Given the description of an element on the screen output the (x, y) to click on. 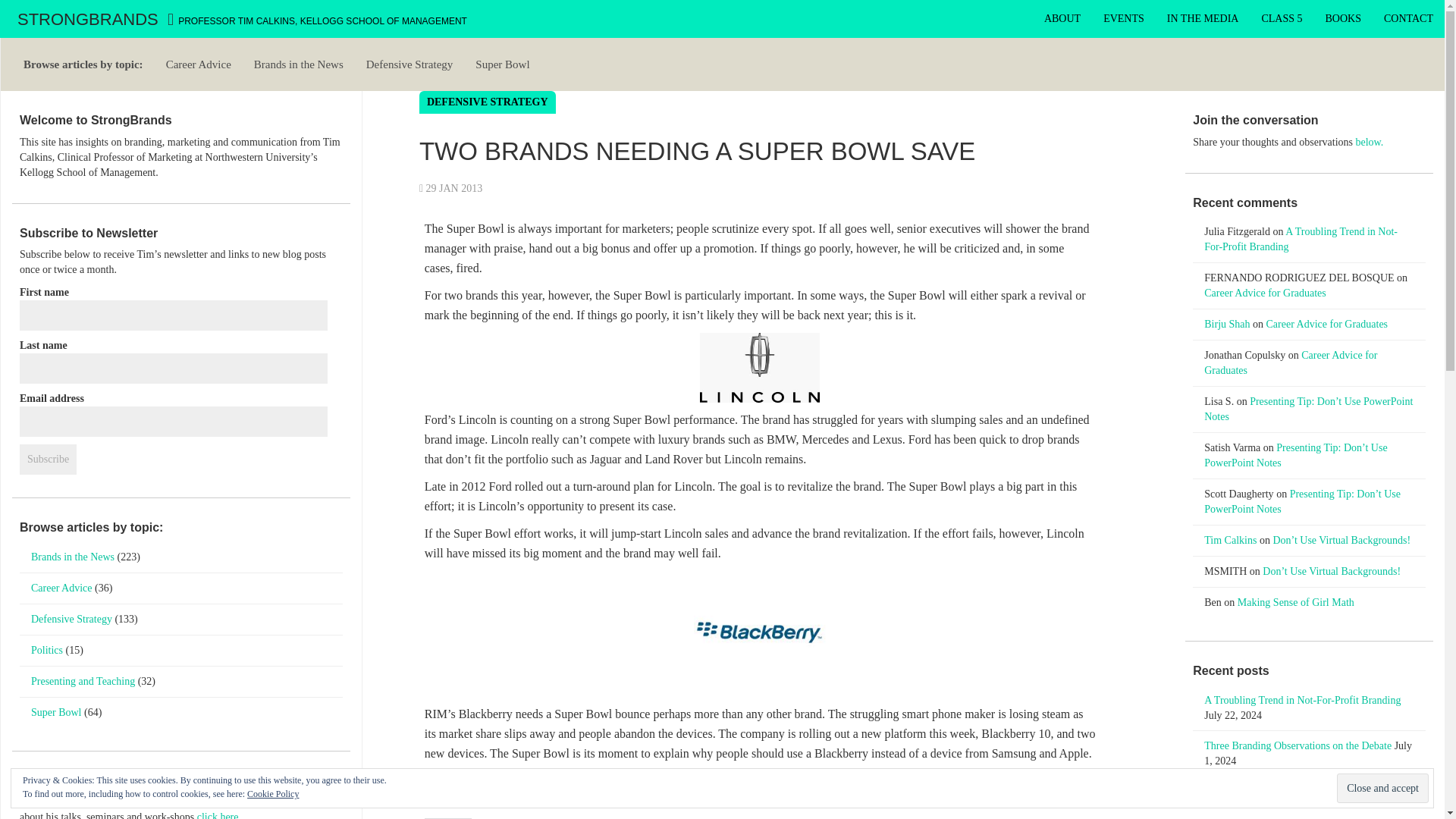
EVENTS (1124, 18)
CLASS 5 (1281, 18)
Defensive Strategy (409, 63)
Class 5 (1281, 18)
Browse articles by topic: (82, 63)
below. (1369, 142)
IN THE MEDIA (1203, 18)
Super Bowl (502, 63)
Close and accept (1382, 788)
DEFENSIVE STRATEGY (487, 101)
Books (1343, 18)
About (1062, 18)
Career Advice for Graduates (1290, 362)
Career Advice (198, 63)
STRONGBRANDS    (88, 18)
